Given the description of an element on the screen output the (x, y) to click on. 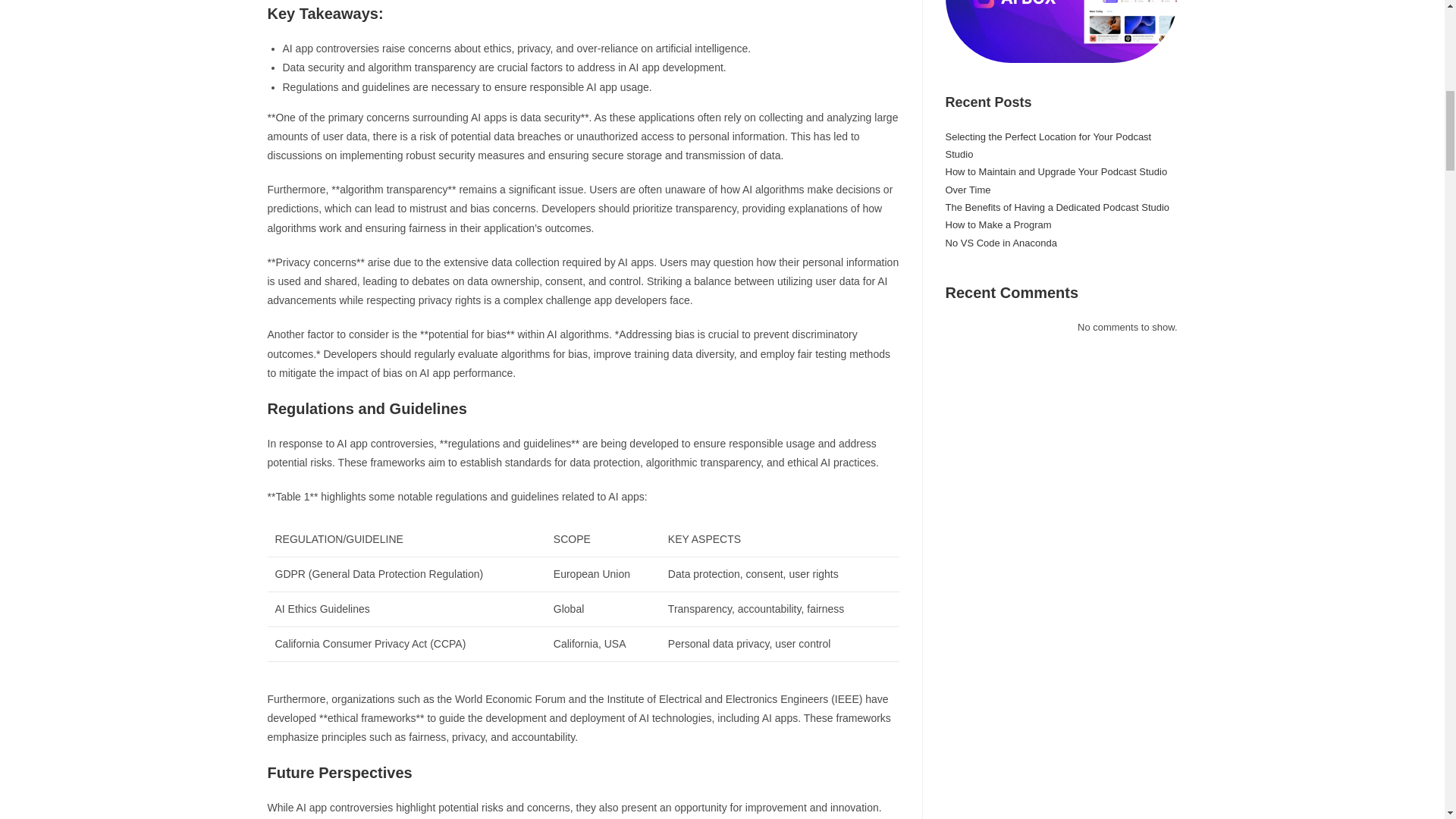
How to Maintain and Upgrade Your Podcast Studio Over Time (1055, 180)
Selecting the Perfect Location for Your Podcast Studio (1047, 144)
How to Make a Program (997, 224)
No VS Code in Anaconda (1000, 242)
The Benefits of Having a Dedicated Podcast Studio (1056, 206)
